Given the description of an element on the screen output the (x, y) to click on. 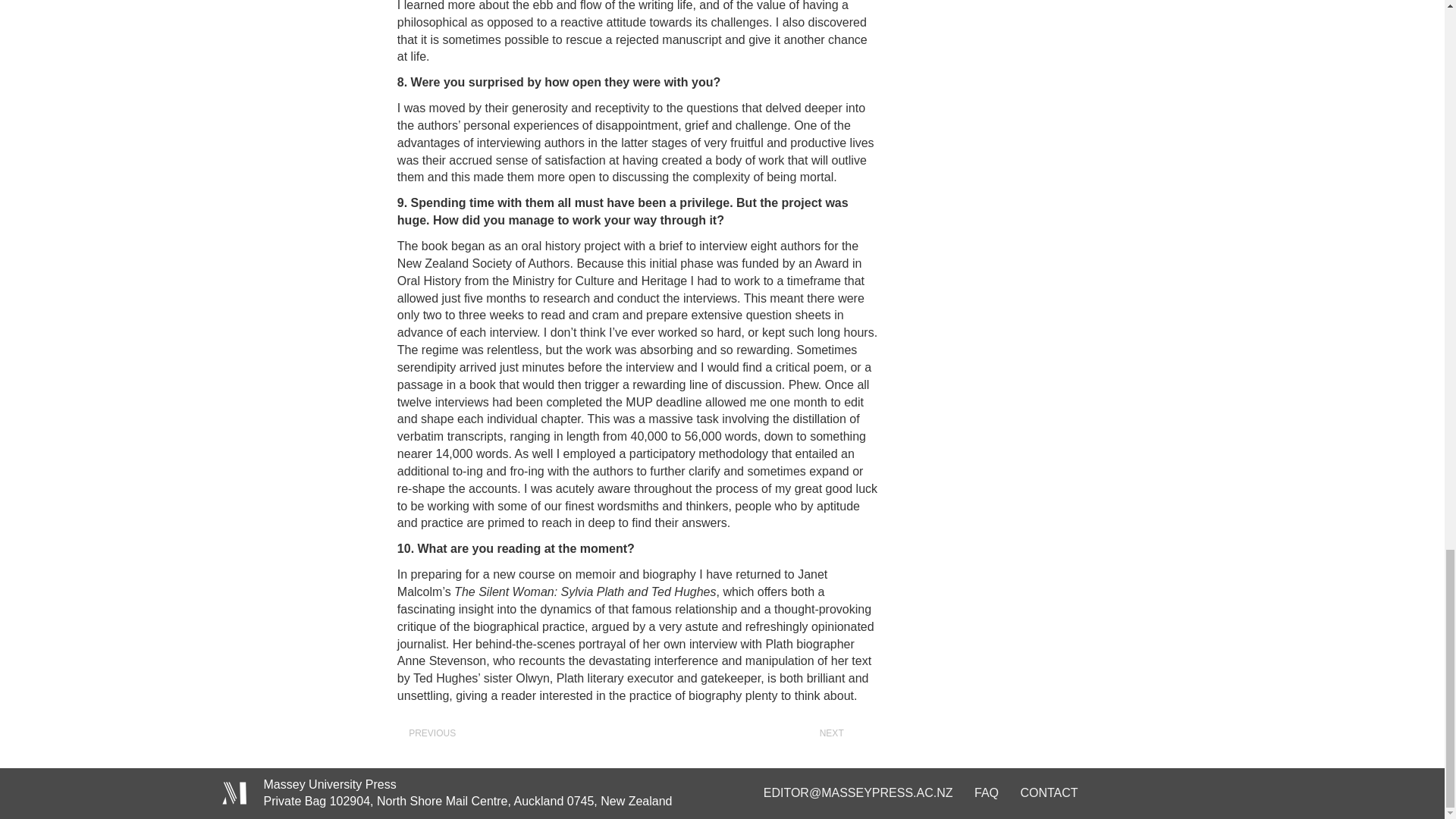
NEXT (839, 734)
CONTACT (1048, 792)
FAQ (986, 792)
PREVIOUS (424, 734)
